Given the description of an element on the screen output the (x, y) to click on. 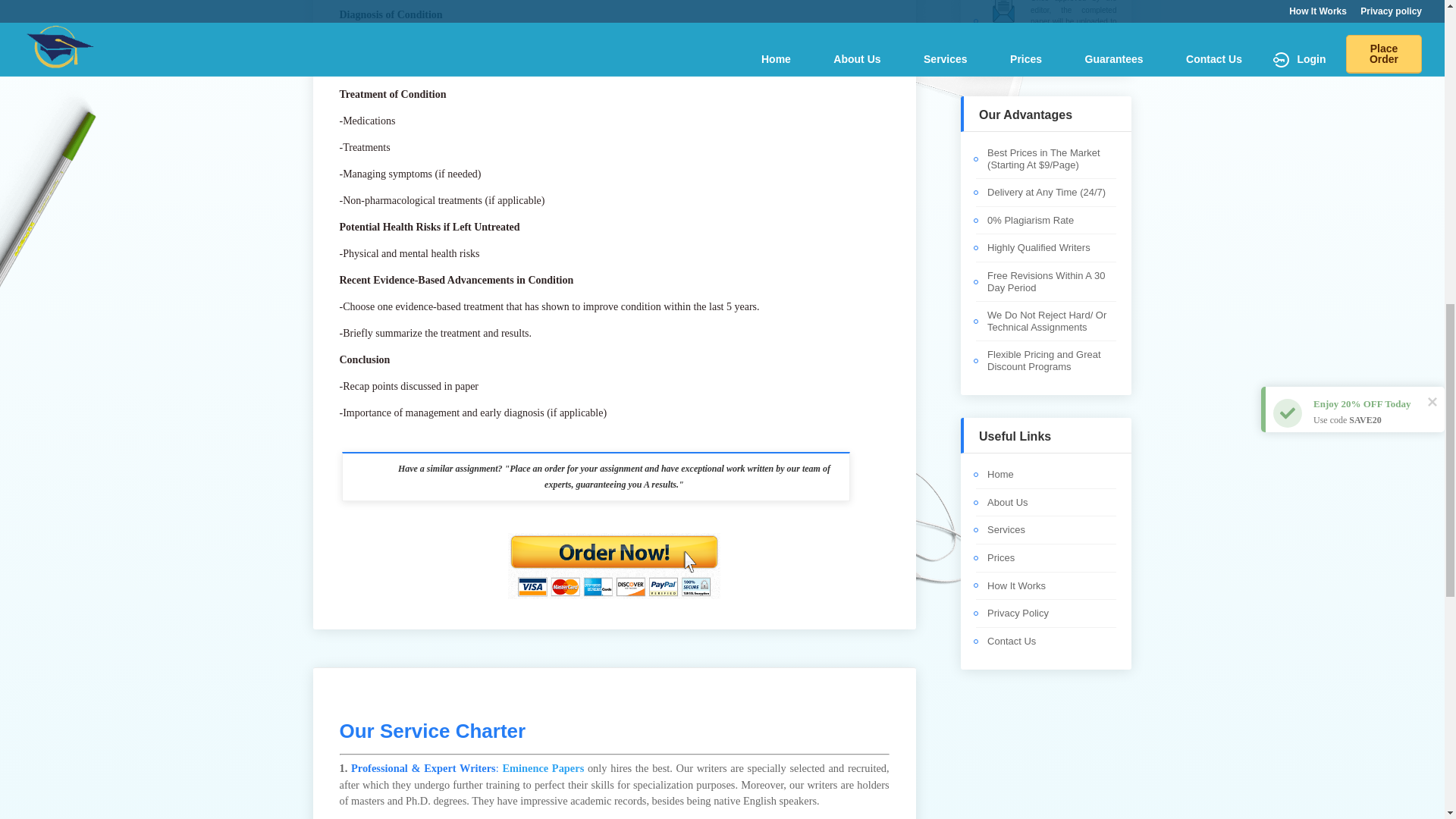
Home (1000, 473)
Privacy Policy (1017, 613)
Prices (1000, 557)
Eminence Papers (542, 767)
Services (1006, 529)
About Us (1007, 501)
Contact Us (1011, 641)
How It Works (1016, 585)
